Given the description of an element on the screen output the (x, y) to click on. 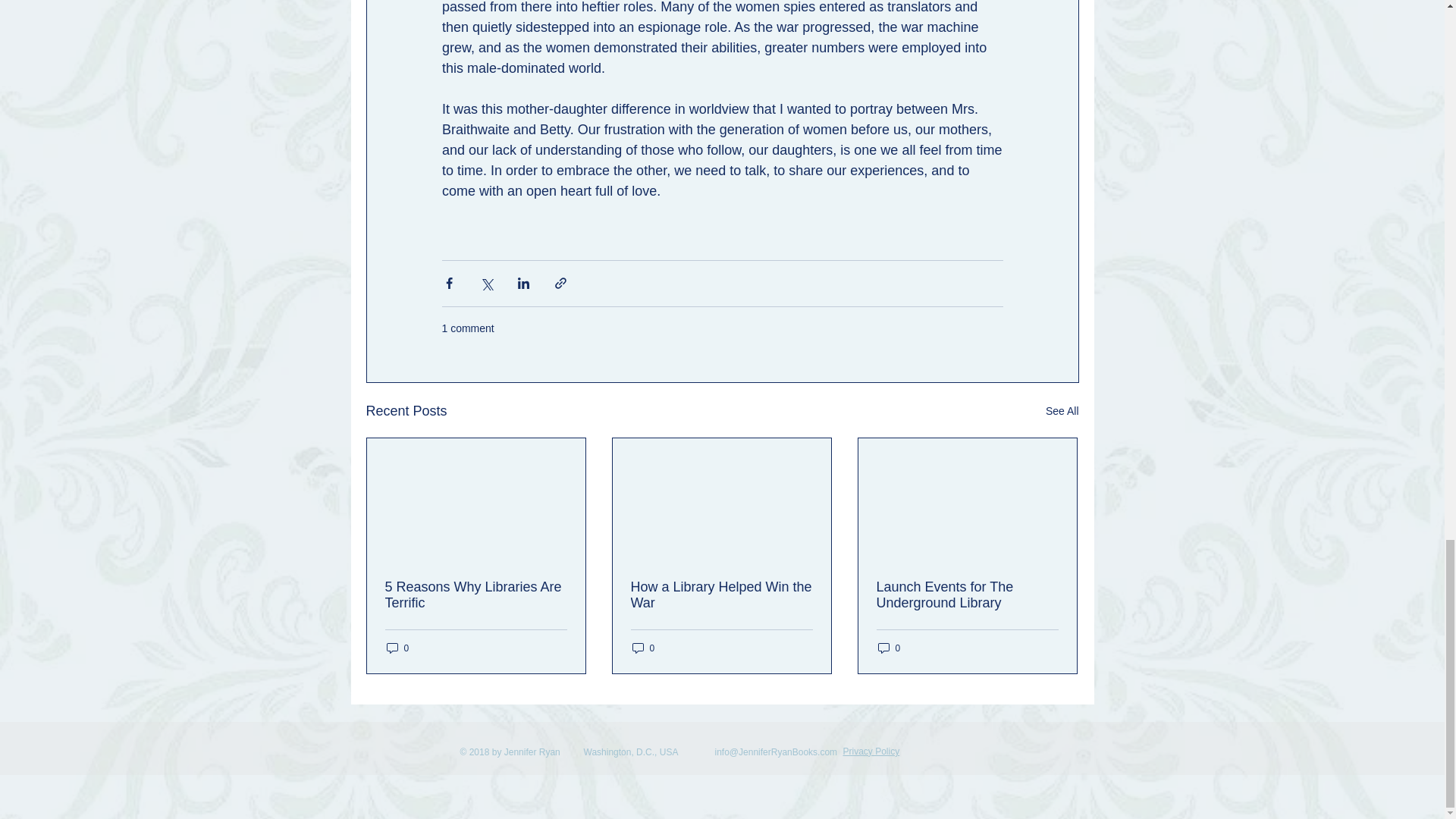
5 Reasons Why Libraries Are Terrific (476, 594)
0 (889, 647)
See All (1061, 411)
Privacy Policy (871, 751)
How a Library Helped Win the War (721, 594)
0 (643, 647)
Launch Events for The Underground Library (967, 594)
0 (397, 647)
